Given the description of an element on the screen output the (x, y) to click on. 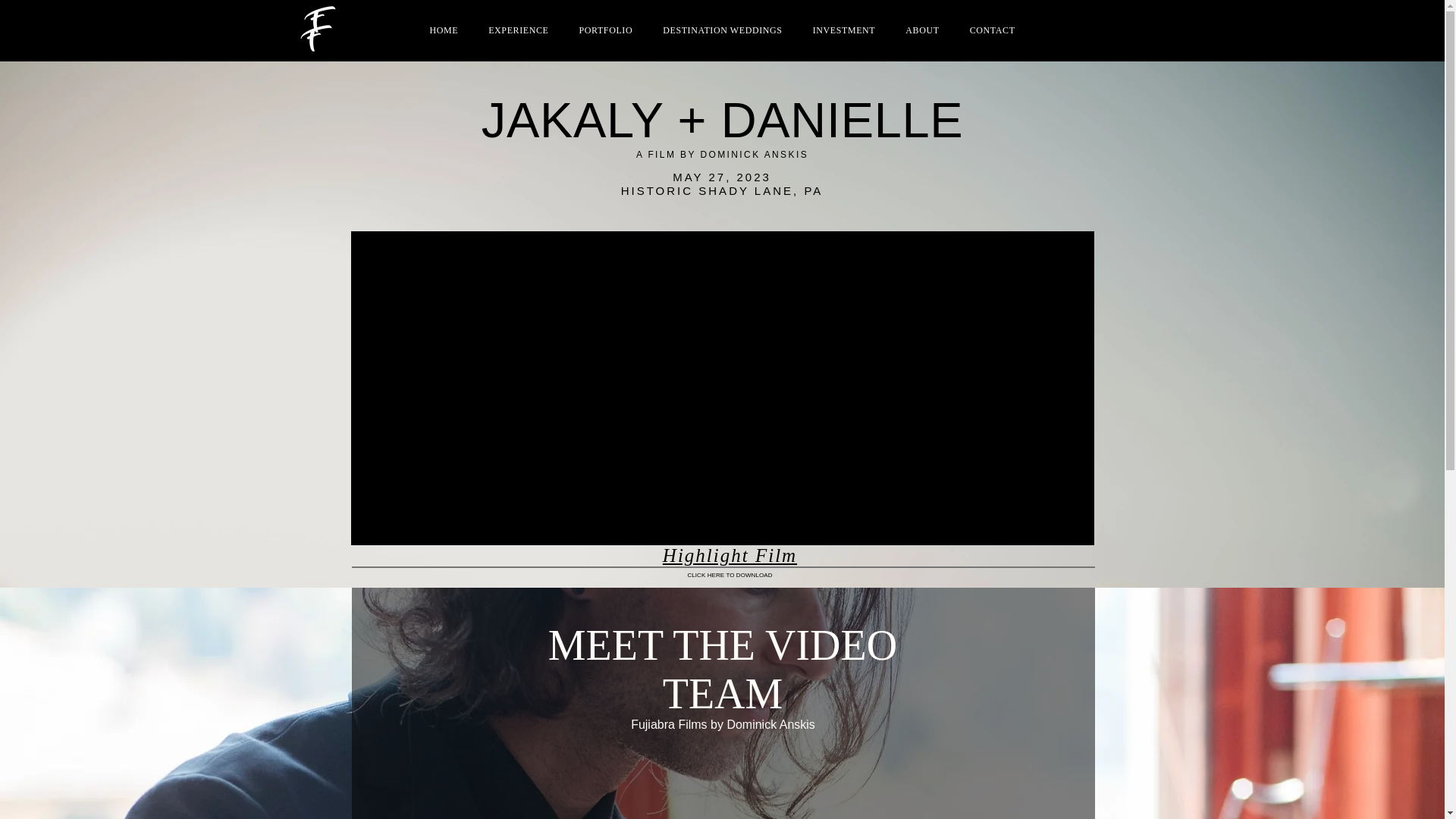
EXPERIENCE (517, 30)
Highlight Film (729, 555)
HOME (443, 30)
PORTFOLIO (606, 30)
CONTACT (991, 30)
ABOUT (922, 30)
INVESTMENT (844, 30)
DESTINATION WEDDINGS (721, 30)
